Given the description of an element on the screen output the (x, y) to click on. 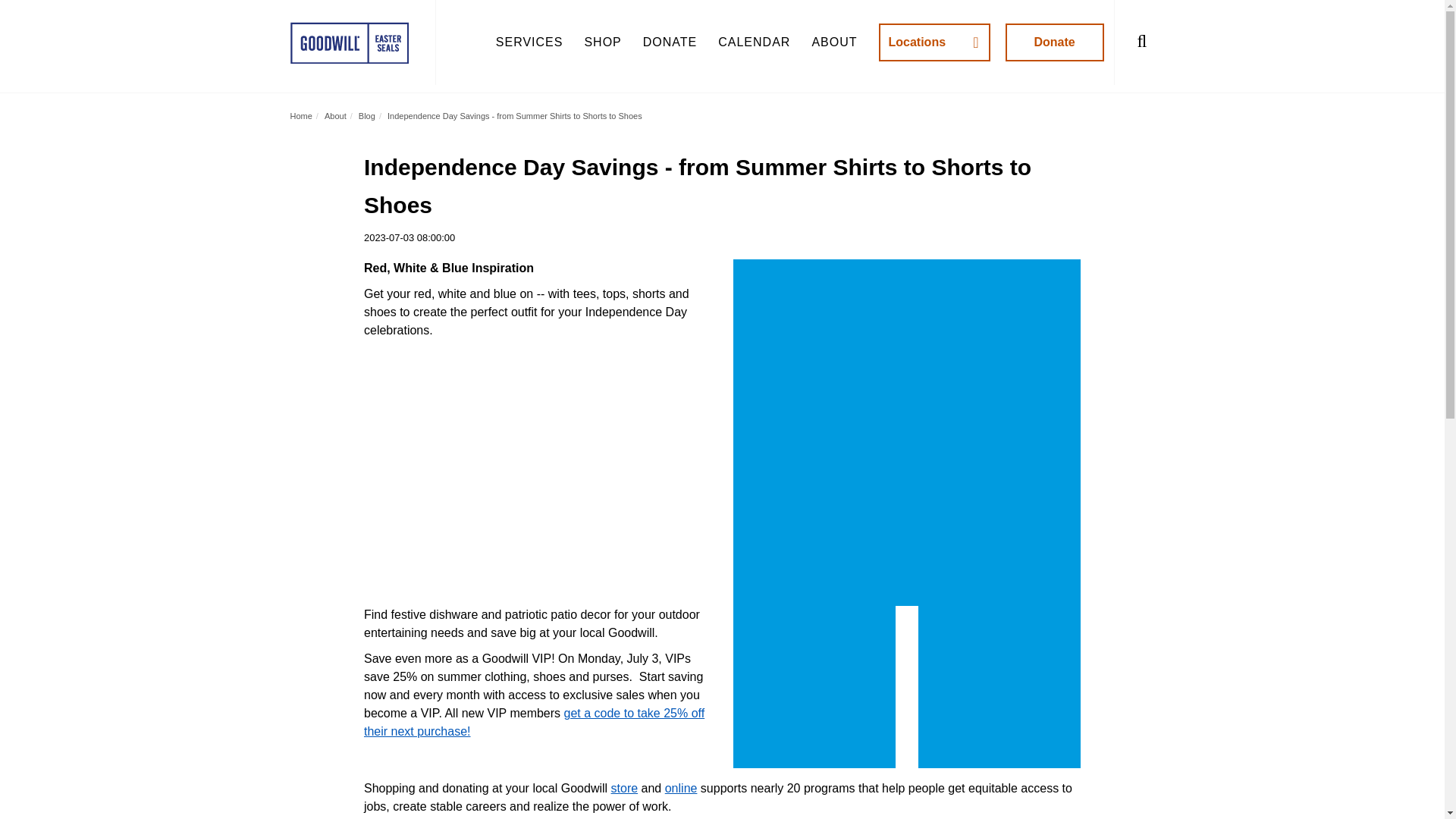
CALENDAR (753, 42)
Locations (933, 42)
Donate (1054, 42)
Blog (366, 115)
SERVICES (529, 42)
About (335, 115)
Home (300, 115)
